Given the description of an element on the screen output the (x, y) to click on. 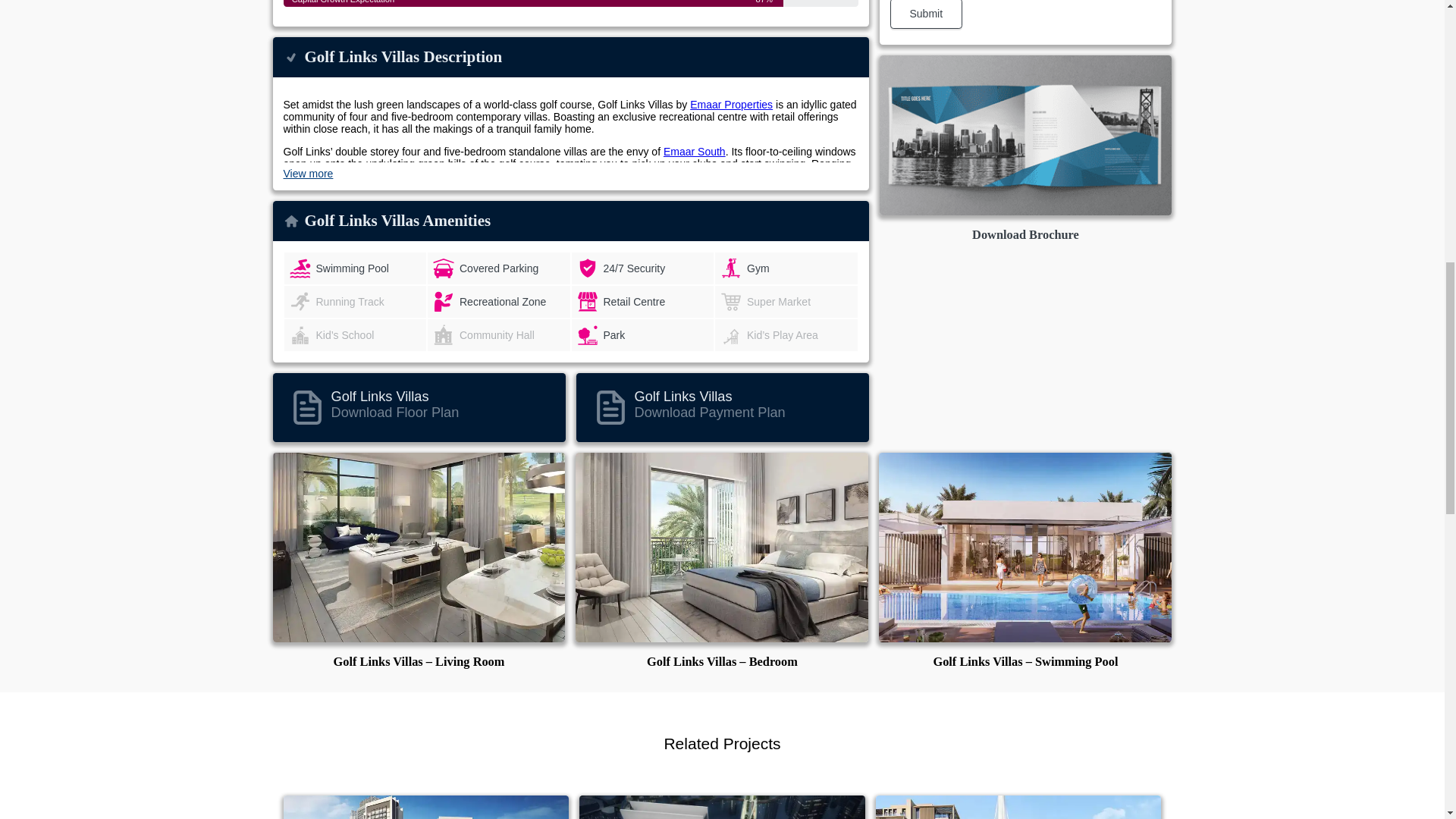
Emaar South (694, 151)
Submit (925, 14)
Emaar Properties (731, 104)
